Given the description of an element on the screen output the (x, y) to click on. 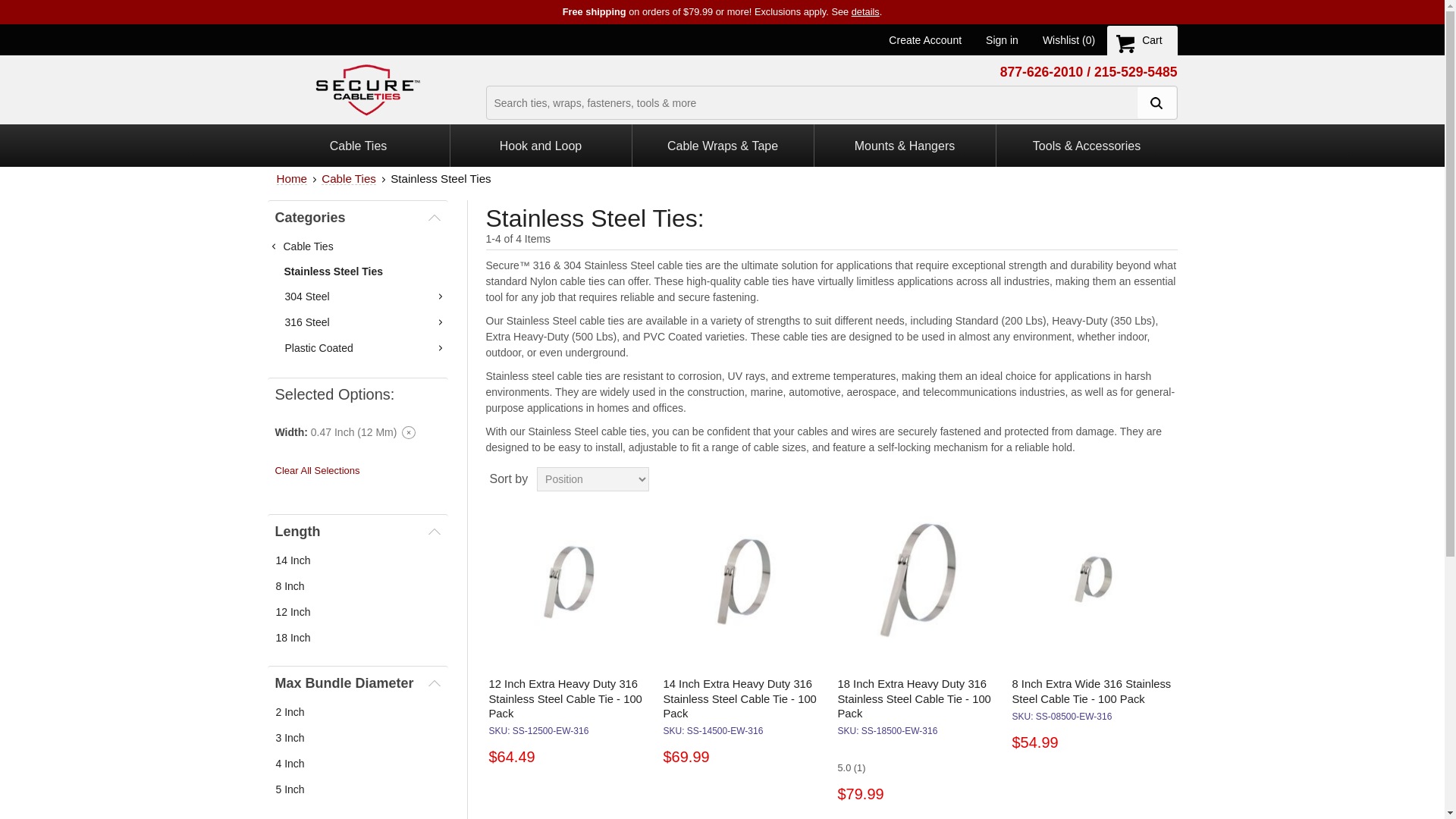
Sign in (1001, 40)
Home (291, 178)
Cable Ties (348, 178)
Search (1154, 101)
details (865, 11)
Create Account (924, 40)
Hook and Loop (541, 146)
Cart (1141, 40)
